Given the description of an element on the screen output the (x, y) to click on. 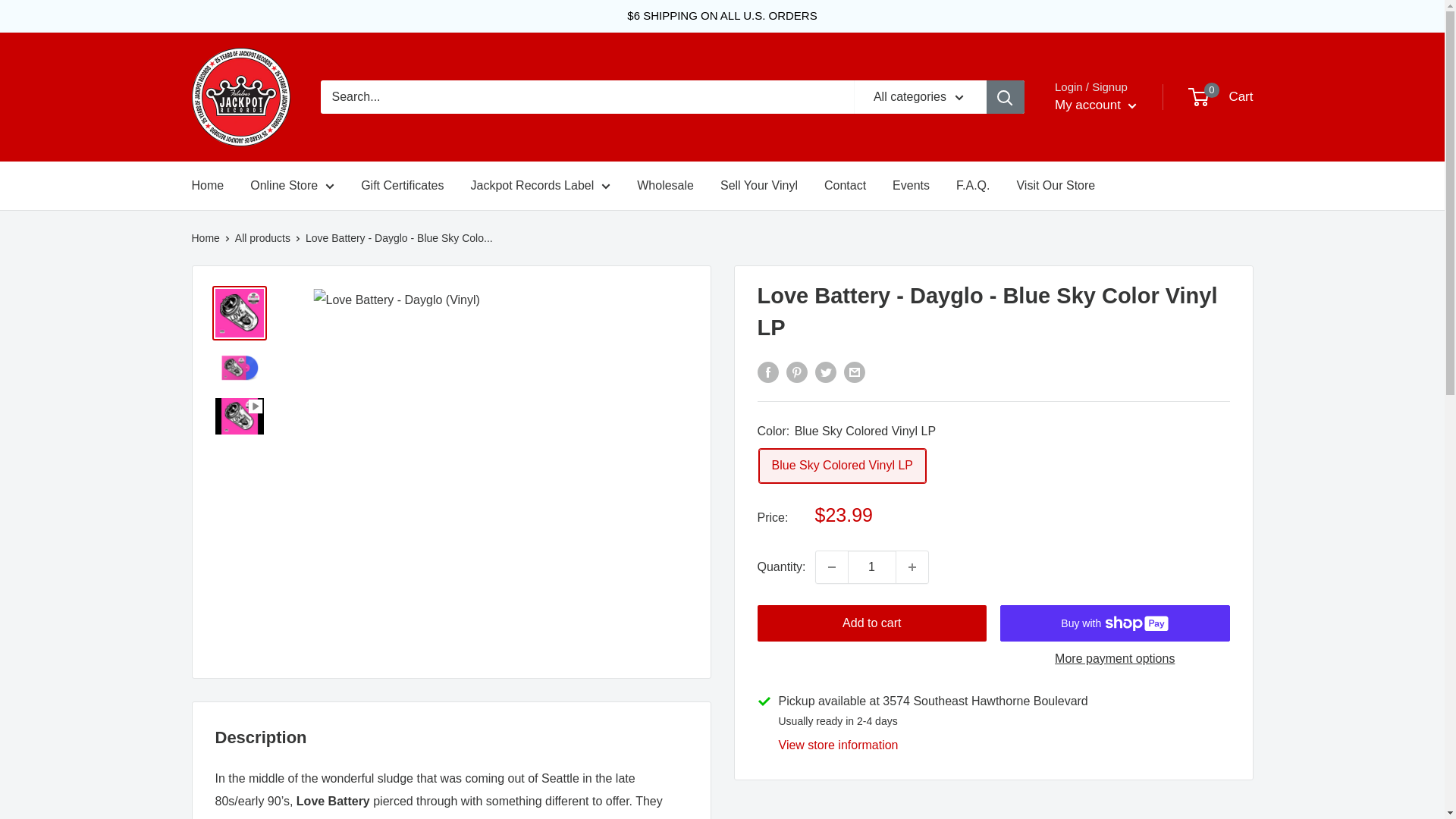
1 (871, 567)
Jackpot Records (239, 96)
Increase quantity by 1 (912, 567)
Decrease quantity by 1 (831, 567)
Blue Sky Colored Vinyl LP (841, 465)
